Given the description of an element on the screen output the (x, y) to click on. 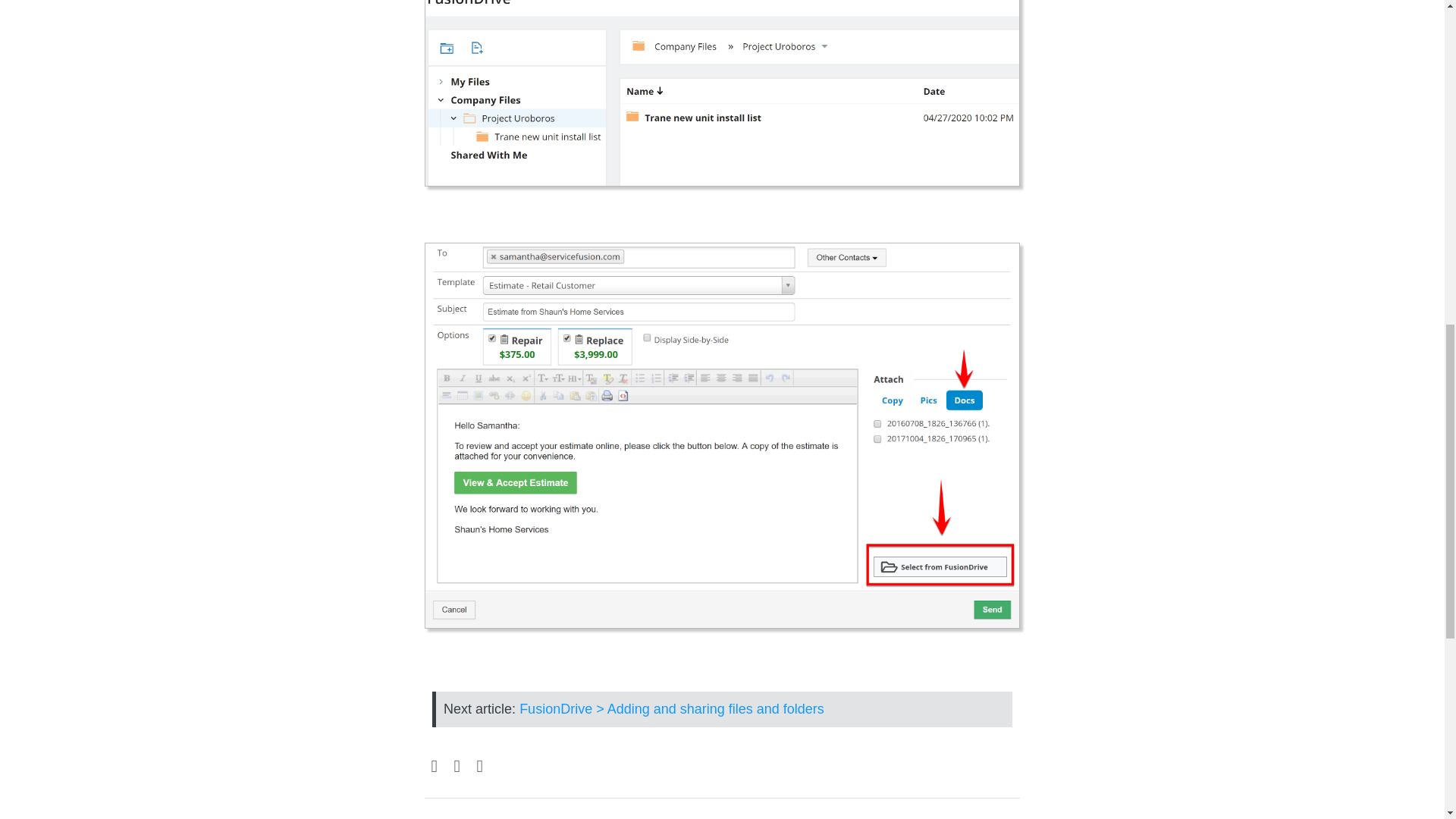
LinkedIn (479, 766)
Facebook (434, 766)
Twitter (455, 766)
